Given the description of an element on the screen output the (x, y) to click on. 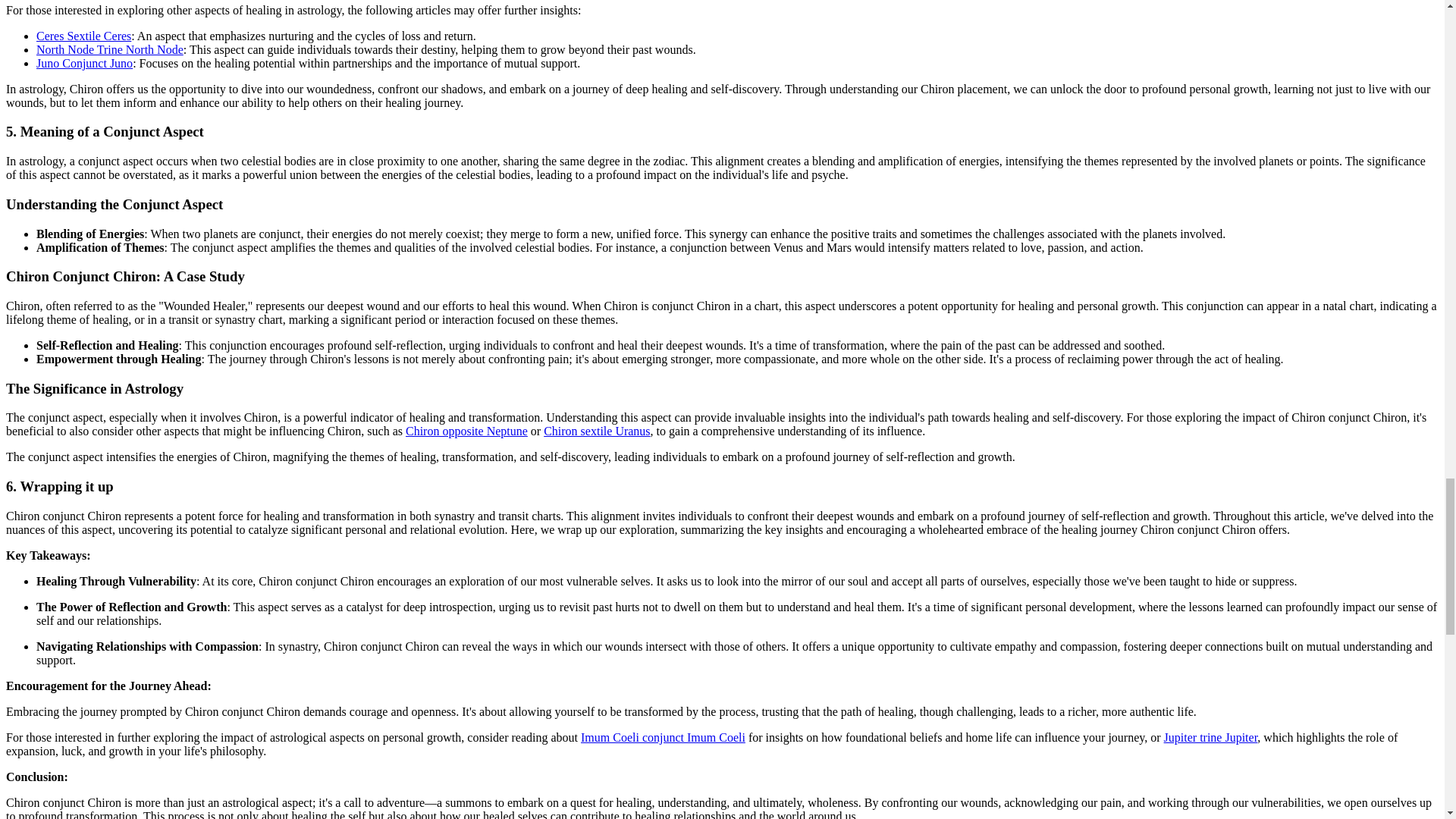
Chiron opposite Neptune (466, 431)
Chiron sextile Uranus (596, 431)
North Node Trine North Node (109, 49)
Imum Coeli conjunct Imum Coeli (662, 737)
Ceres Sextile Ceres (83, 35)
Jupiter trine Jupiter (1210, 737)
Juno Conjunct Juno (84, 62)
